Given the description of an element on the screen output the (x, y) to click on. 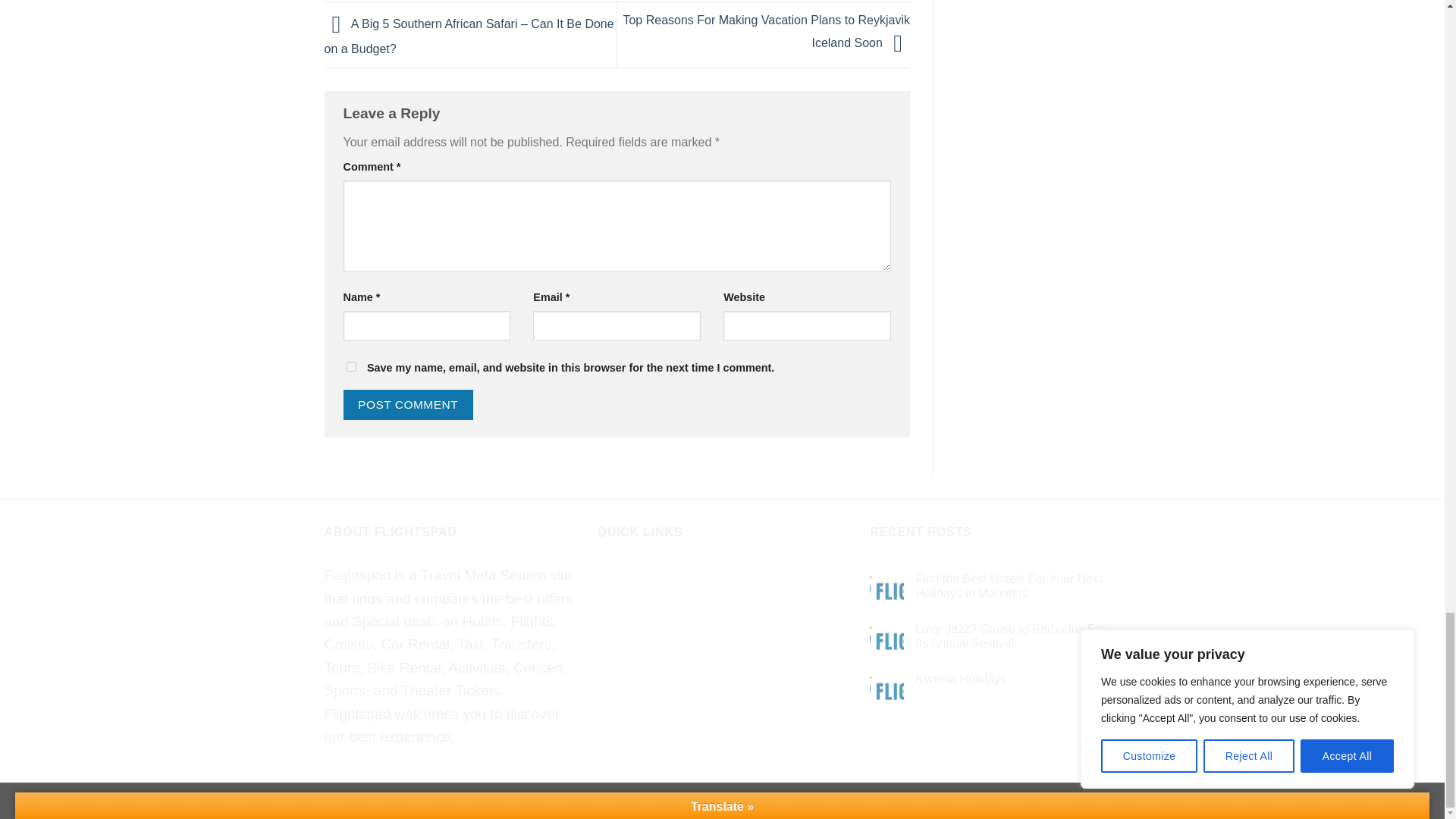
yes (350, 366)
Post Comment (406, 404)
